Given the description of an element on the screen output the (x, y) to click on. 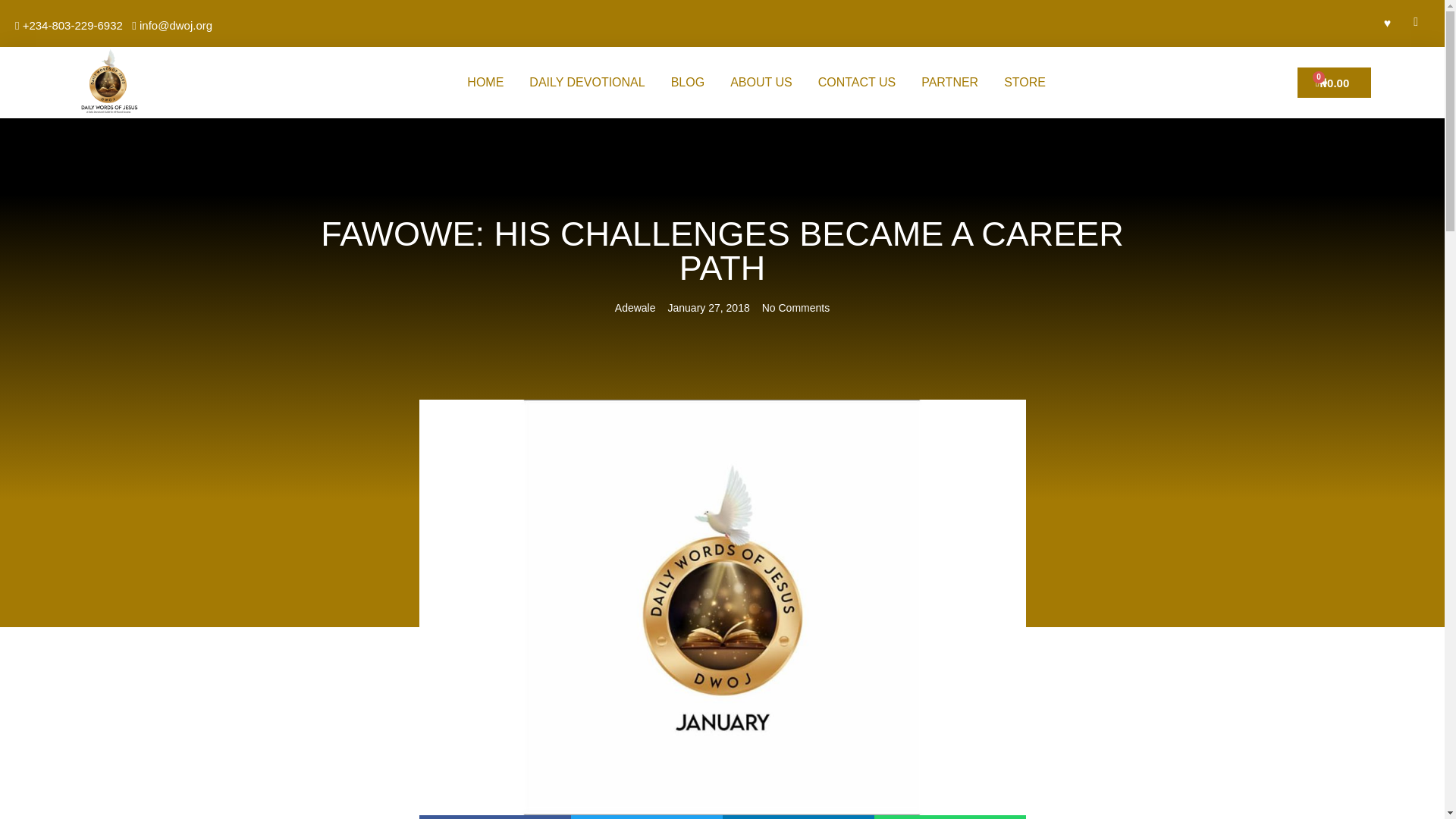
STORE (1024, 82)
DAILY DEVOTIONAL (587, 82)
HOME (485, 82)
BLOG (687, 82)
PARTNER (950, 82)
Adewale (635, 308)
ABOUT US (761, 82)
CONTACT US (856, 82)
